Given the description of an element on the screen output the (x, y) to click on. 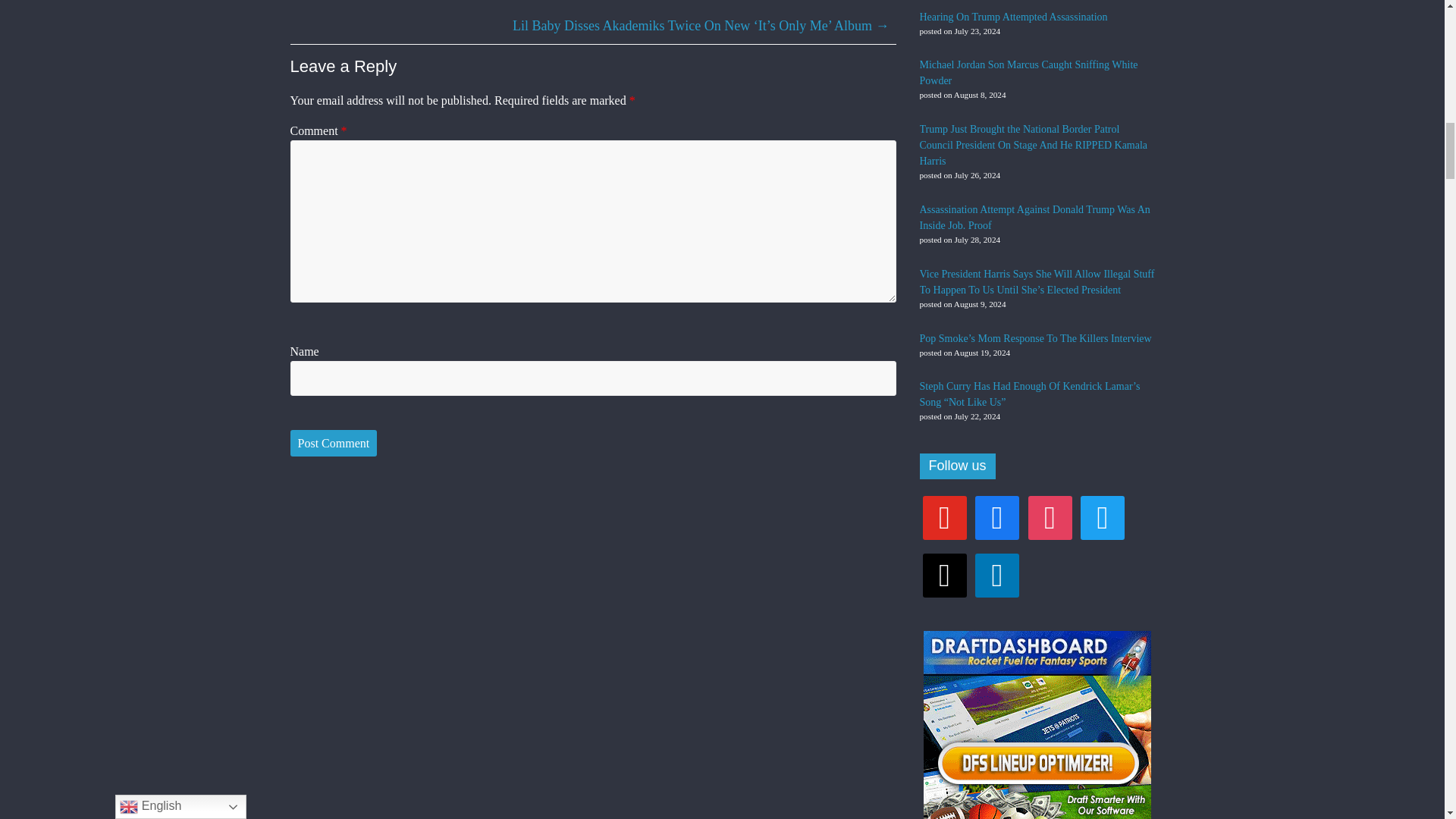
Facebook (997, 516)
Instagram (1049, 516)
Post Comment (333, 443)
Post Comment (333, 443)
